Given the description of an element on the screen output the (x, y) to click on. 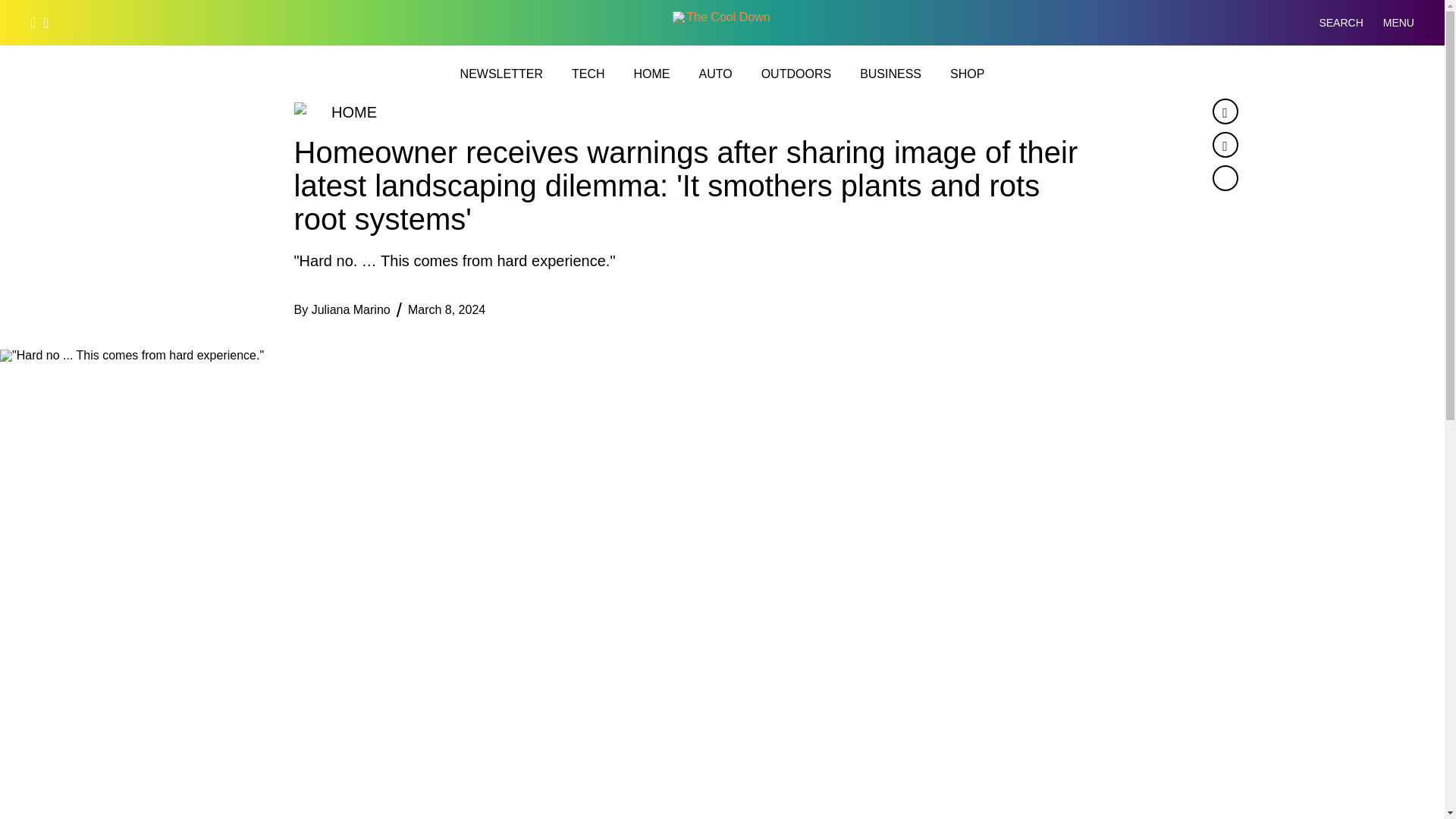
NEWSLETTER (501, 73)
TECH (588, 73)
Facebook (1224, 111)
BUSINESS (890, 73)
OUTDOORS (796, 73)
HOME (651, 73)
SHOP (967, 73)
Twitter (1224, 144)
SEARCH (1328, 22)
MENU (1398, 22)
AUTO (715, 73)
